Given the description of an element on the screen output the (x, y) to click on. 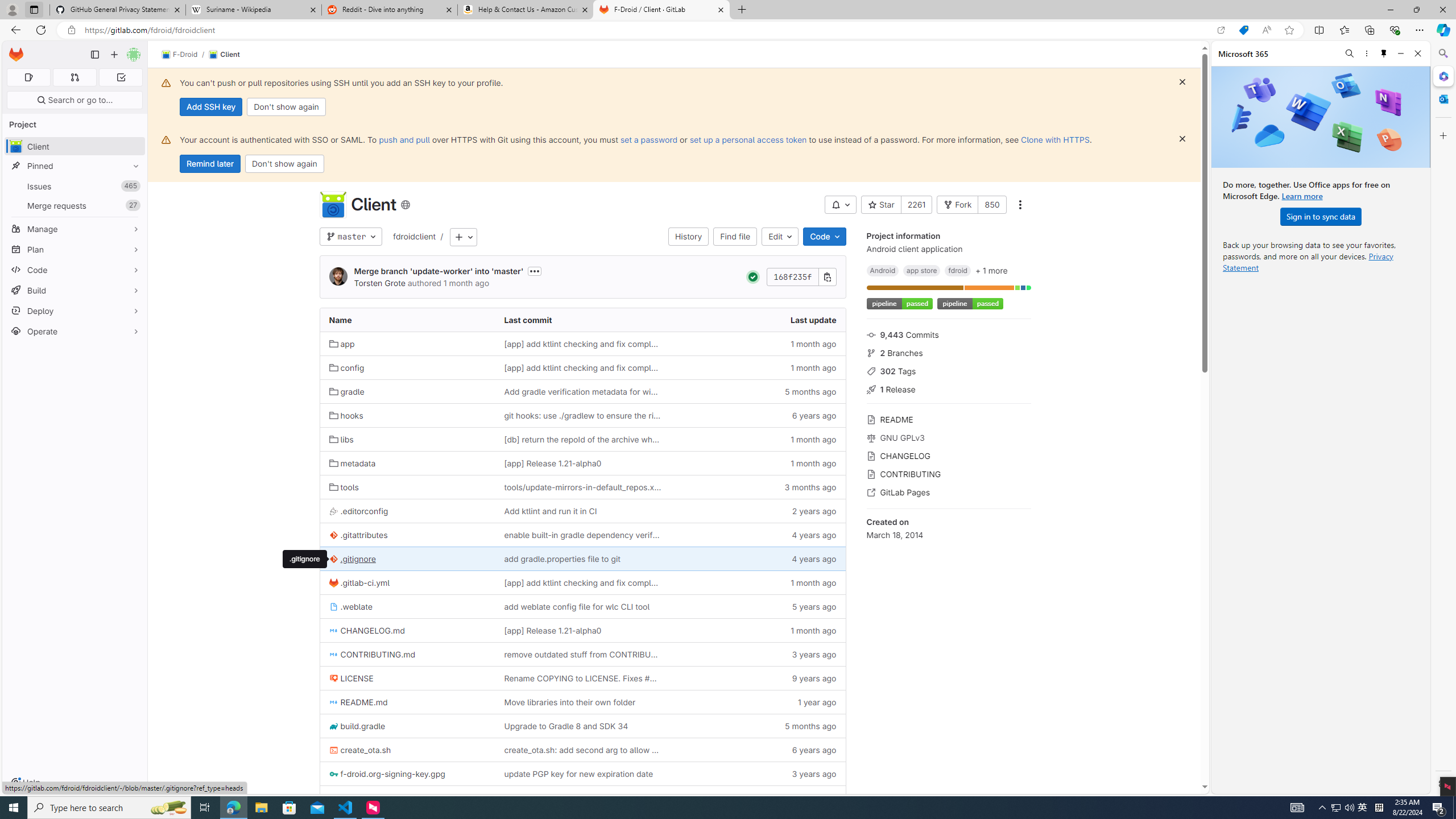
Code (824, 236)
850 (991, 204)
Toggle commit description (534, 271)
Help & Contact Us - Amazon Customer Service (525, 9)
Operate (74, 330)
+ 1 more (991, 269)
CHANGELOG.md (366, 630)
add gradle.properties file to git (583, 558)
remove outdated stuff from CONTRIBUTING.md (583, 654)
 Star (880, 204)
Class: s16 icon gl-mr-3 gl-text-gray-500 (871, 492)
libs (341, 439)
.gitlab-ci.yml (359, 582)
9,443 Commits (948, 333)
